Given the description of an element on the screen output the (x, y) to click on. 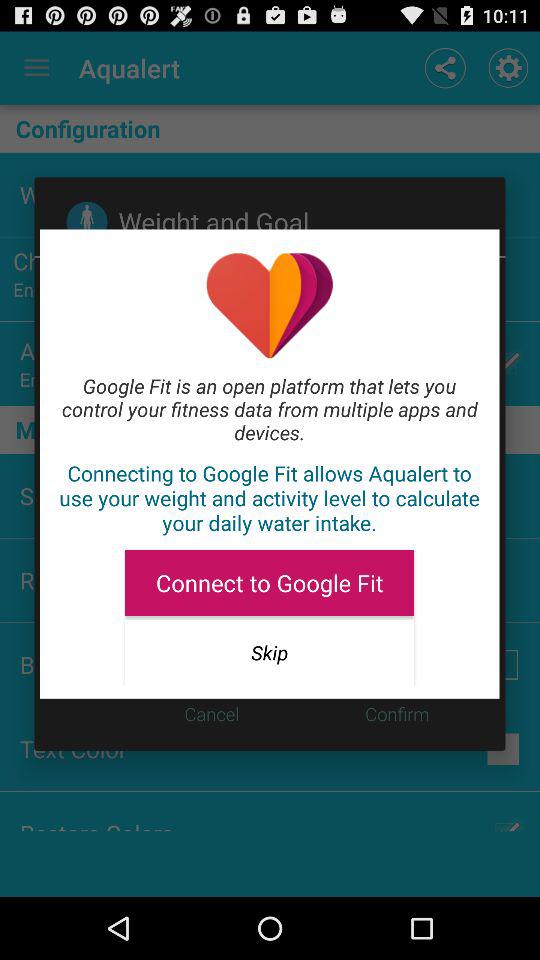
tap the skip (269, 652)
